Given the description of an element on the screen output the (x, y) to click on. 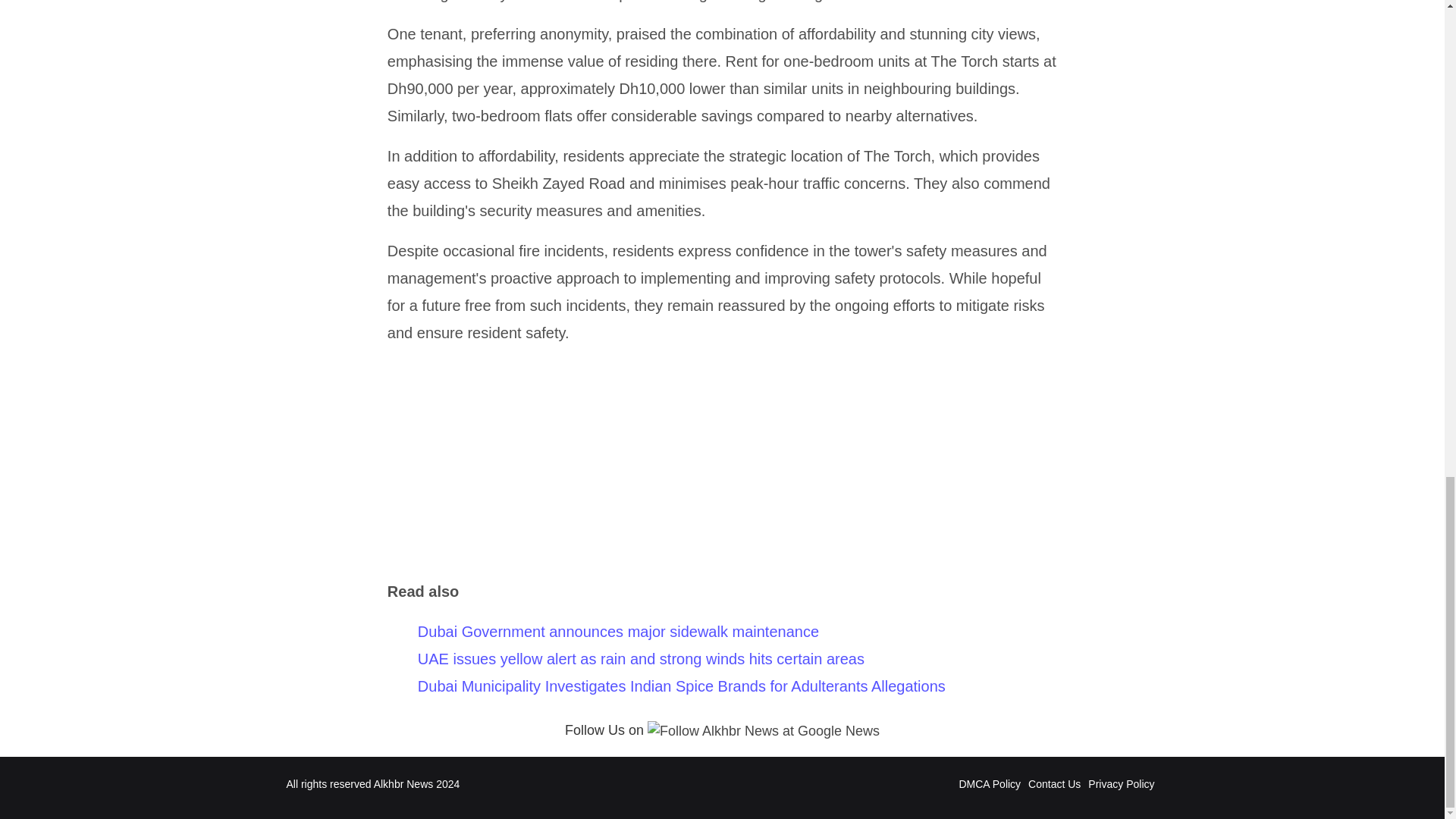
Dubai Government announces major sidewalk maintenance (617, 631)
Contact Us (1053, 784)
Privacy Policy (1120, 784)
DMCA Policy (989, 784)
